Given the description of an element on the screen output the (x, y) to click on. 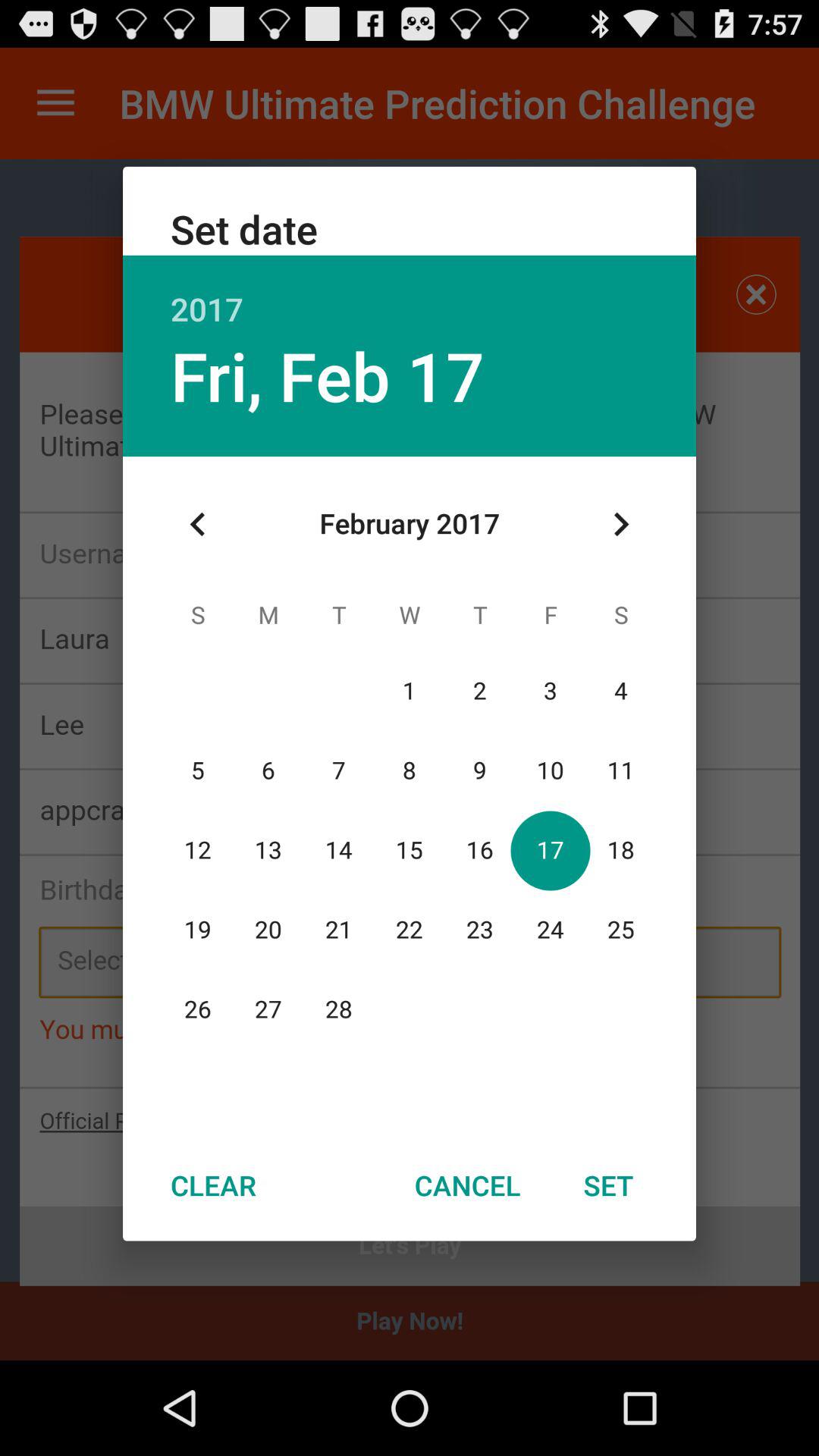
launch item on the left (197, 524)
